Given the description of an element on the screen output the (x, y) to click on. 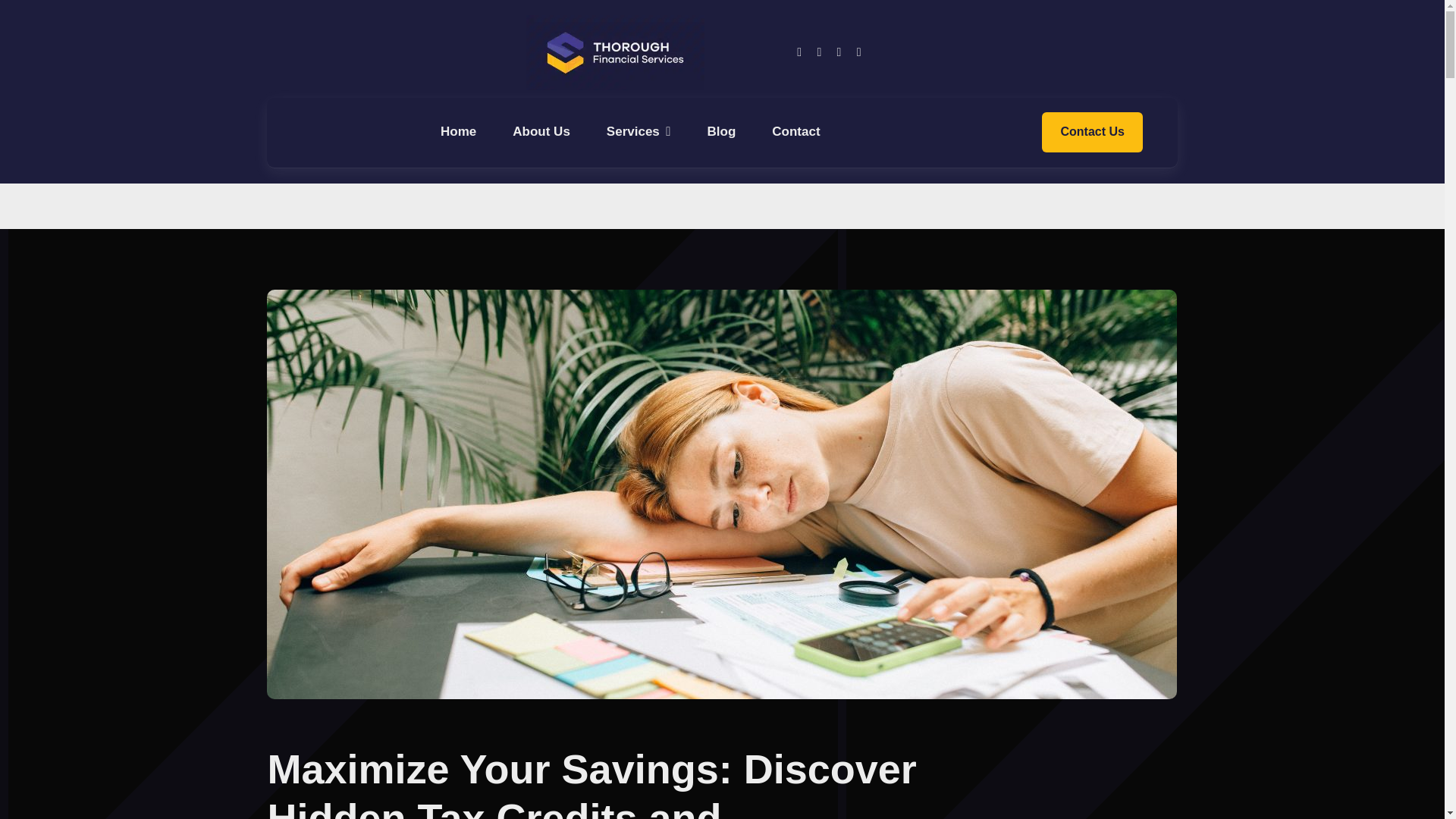
Blog (721, 132)
HORIZONTAL LOGO-02 (614, 52)
Services (639, 132)
Contact (795, 132)
Contact Us (1091, 132)
Home (458, 132)
About Us (541, 132)
